Given the description of an element on the screen output the (x, y) to click on. 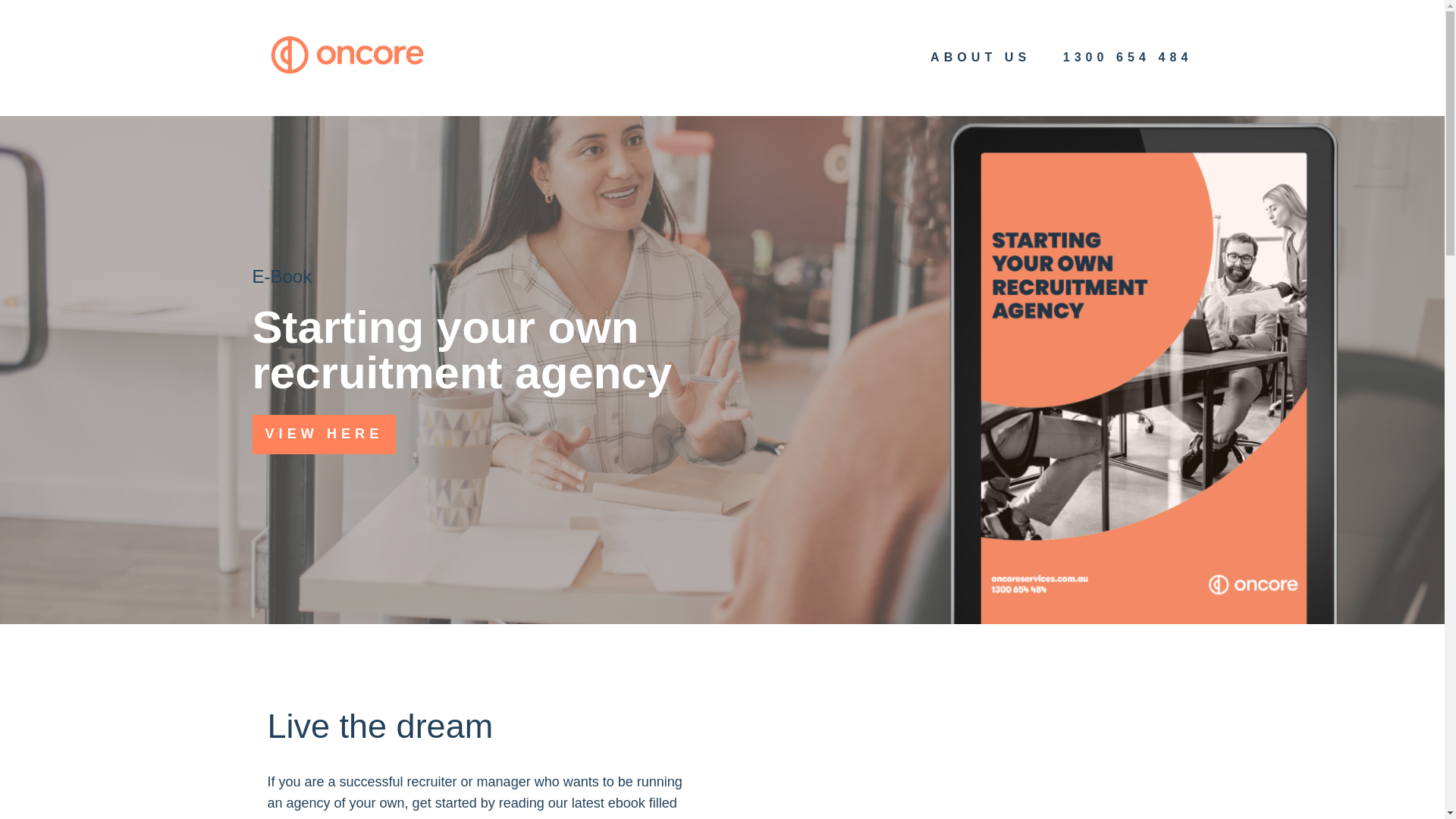
ABOUT US (980, 56)
Oncore Home (346, 54)
VIEW HERE (323, 434)
1300 654 484 (1127, 56)
